Given the description of an element on the screen output the (x, y) to click on. 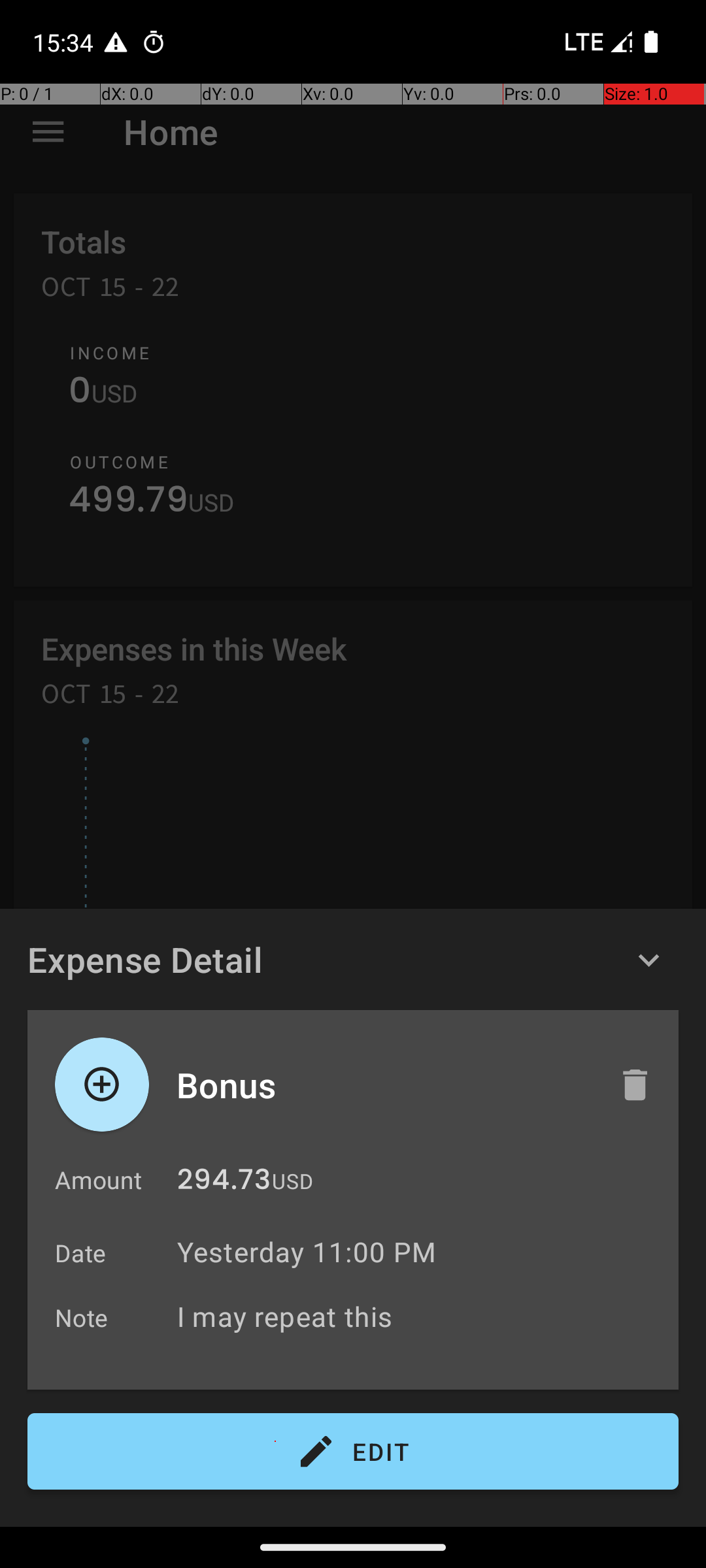
Bonus Element type: android.widget.TextView (383, 1084)
294.73 Element type: android.widget.TextView (223, 1182)
Yesterday 11:00 PM Element type: android.widget.TextView (306, 1251)
I may repeat this Element type: android.widget.TextView (420, 1315)
